Given the description of an element on the screen output the (x, y) to click on. 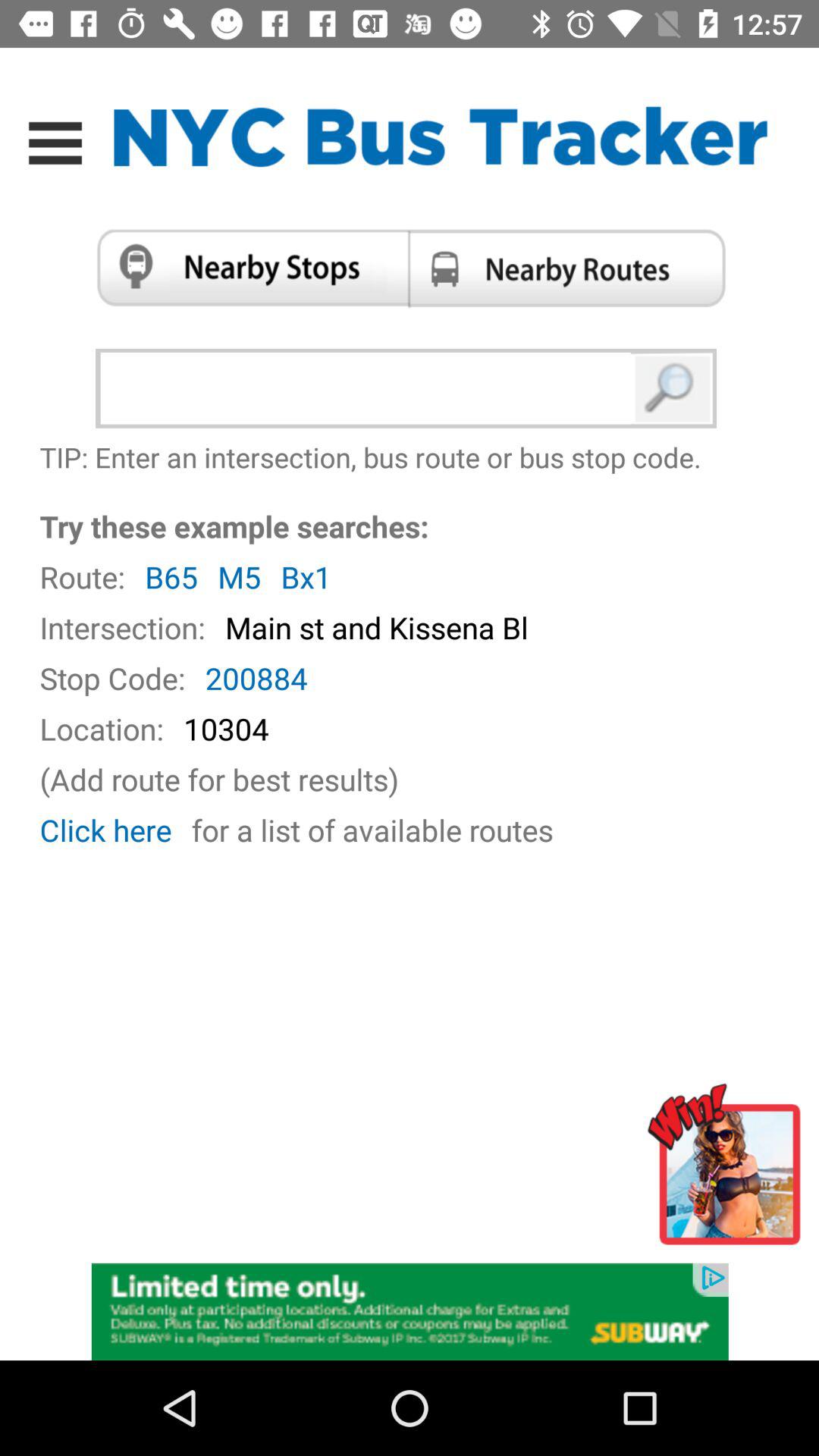
bus route search box (369, 388)
